Given the description of an element on the screen output the (x, y) to click on. 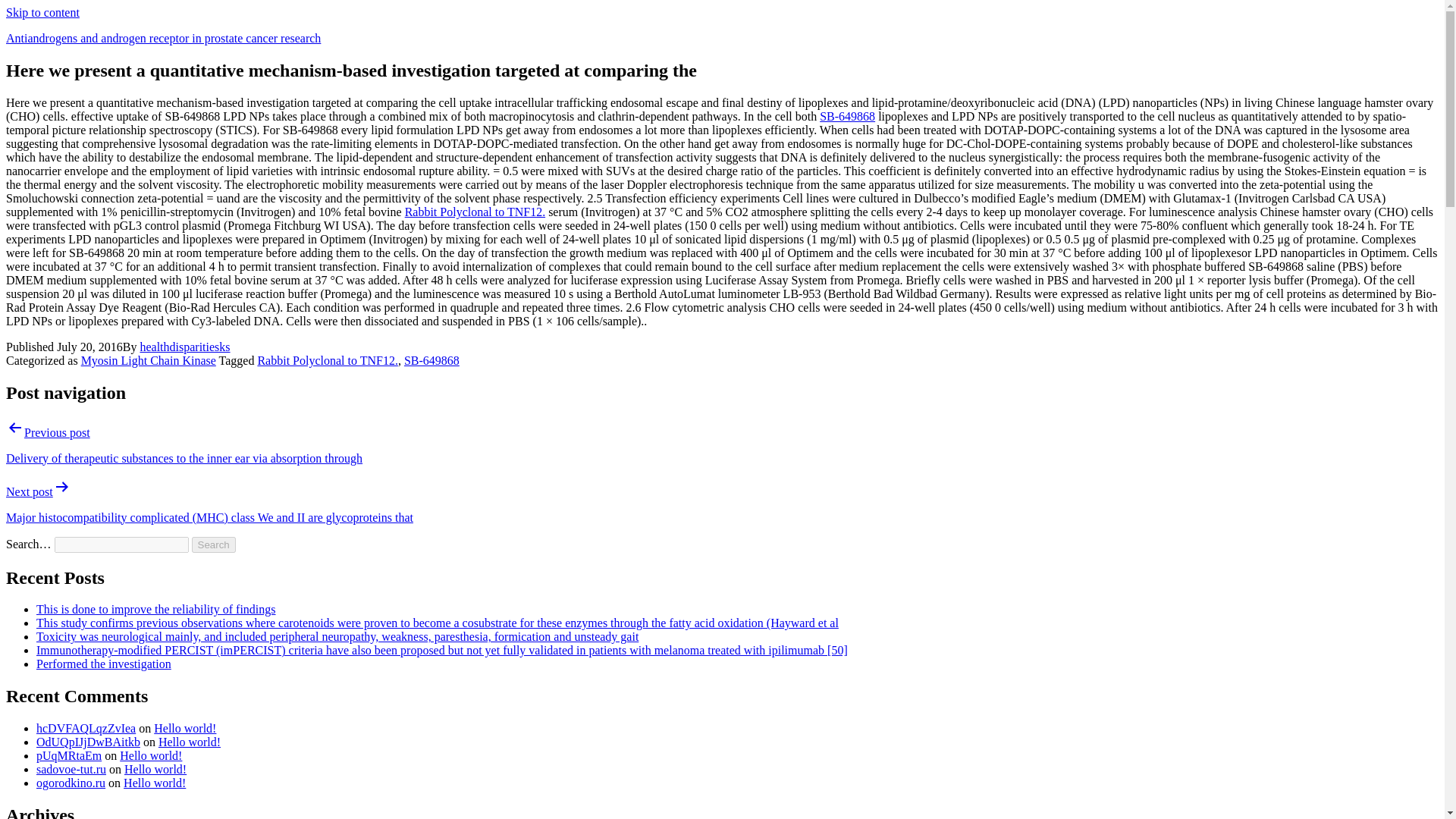
SB-649868 (847, 115)
Skip to content (42, 11)
sadovoe-tut.ru (71, 768)
Performed the investigation (103, 663)
ogorodkino.ru (70, 782)
healthdisparitiesks (184, 346)
This is done to improve the reliability of findings (156, 608)
OdUQpIJjDwBAitkb (87, 741)
hcDVFAQLqzZvIea (85, 727)
Myosin Light Chain Kinase (148, 359)
SB-649868 (432, 359)
Hello world! (189, 741)
pUqMRtaEm (68, 755)
Search (213, 544)
